Given the description of an element on the screen output the (x, y) to click on. 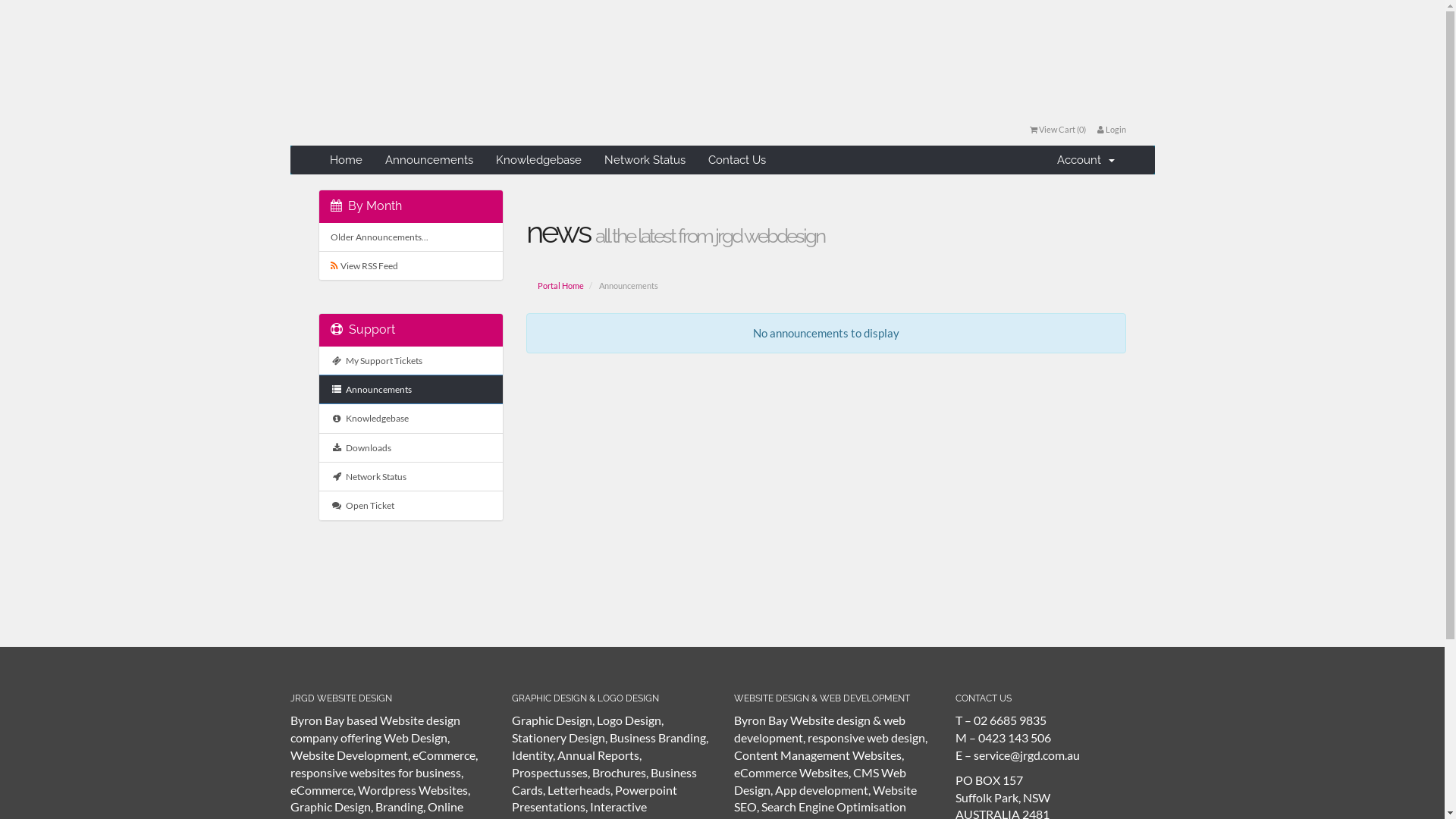
Login Element type: text (1111, 129)
Home Element type: text (345, 159)
Network Status Element type: text (644, 159)
  My Support Tickets Element type: text (410, 360)
  Knowledgebase Element type: text (410, 418)
Announcements Element type: text (428, 159)
Older Announcements... Element type: text (410, 236)
Portal Home Element type: text (560, 285)
  Downloads Element type: text (410, 447)
  Network Status Element type: text (410, 476)
Account   Element type: text (1085, 159)
  Announcements Element type: text (410, 389)
  Open Ticket Element type: text (410, 504)
View Cart (0) Element type: text (1057, 129)
Contact Us Element type: text (736, 159)
Knowledgebase Element type: text (538, 159)
  View RSS Feed Element type: text (410, 265)
